Given the description of an element on the screen output the (x, y) to click on. 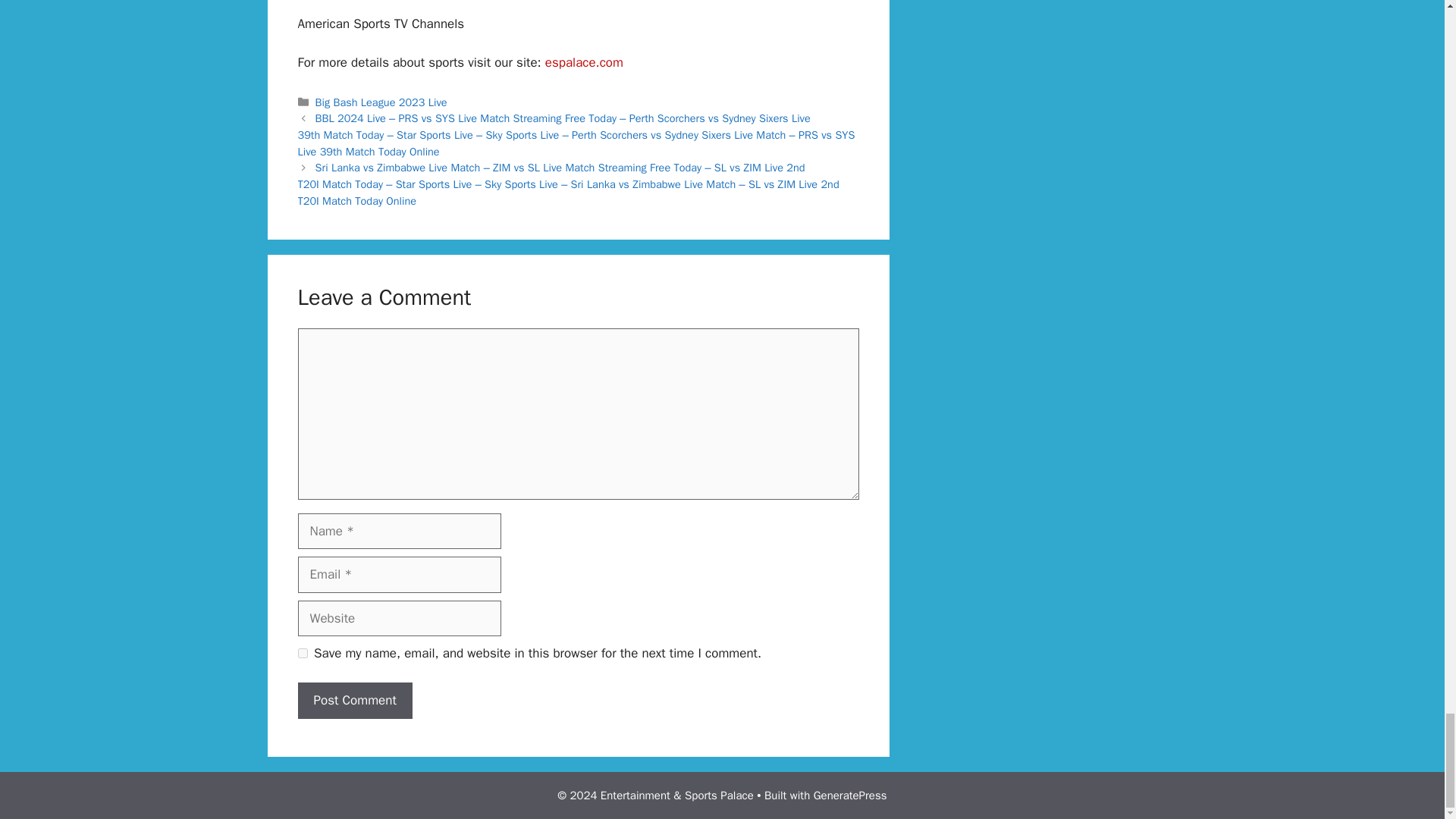
Post Comment (354, 700)
yes (302, 653)
Post Comment (354, 700)
espalace.com (583, 62)
Big Bash League 2023 Live (380, 101)
